Given the description of an element on the screen output the (x, y) to click on. 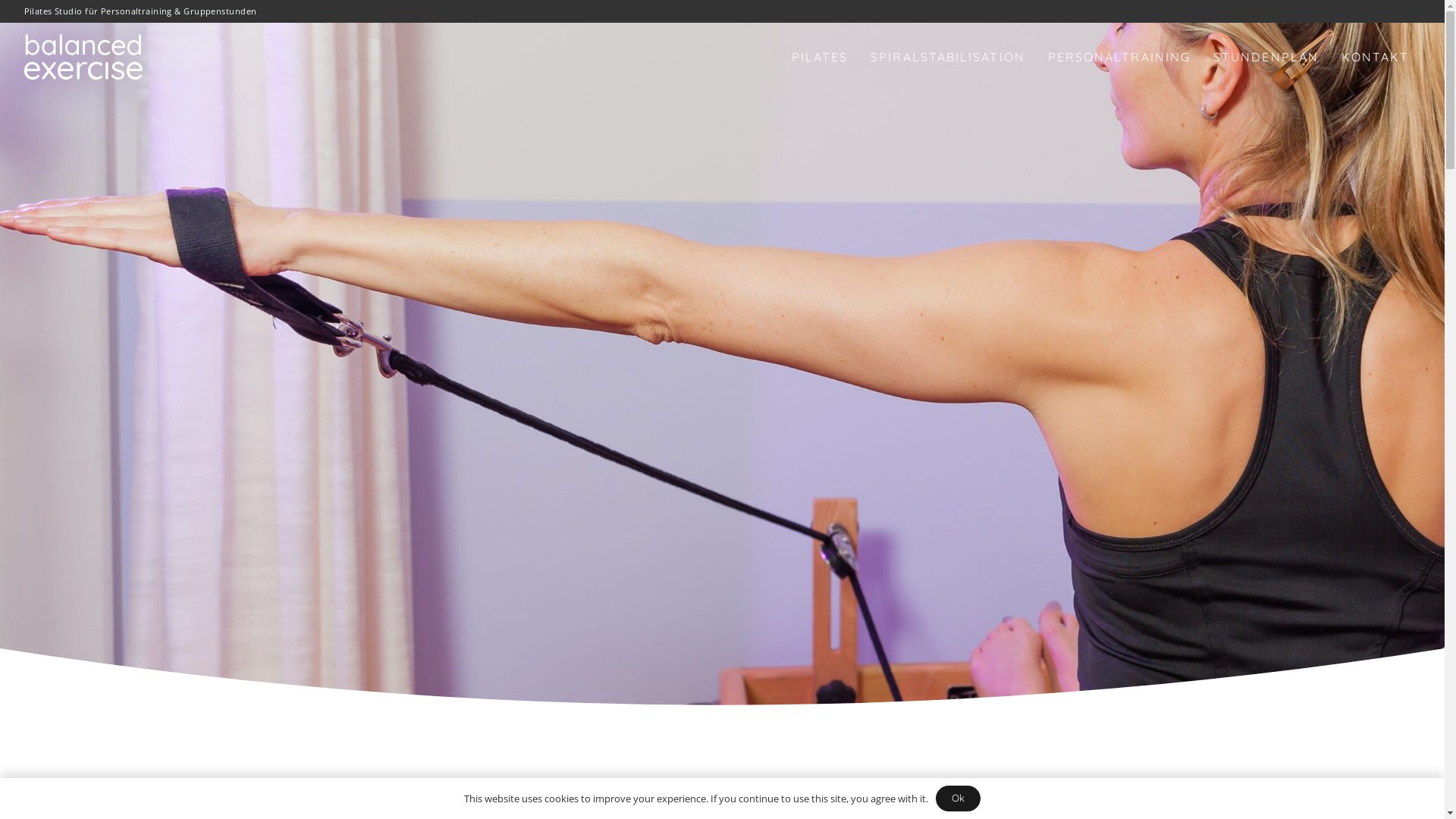
Ok Element type: text (957, 798)
PERSONALTRAINING Element type: text (1118, 56)
SPIRALSTABILISATION Element type: text (947, 56)
KONTAKT Element type: text (1375, 56)
STUNDENPLAN Element type: text (1265, 56)
PILATES Element type: text (819, 56)
